Given the description of an element on the screen output the (x, y) to click on. 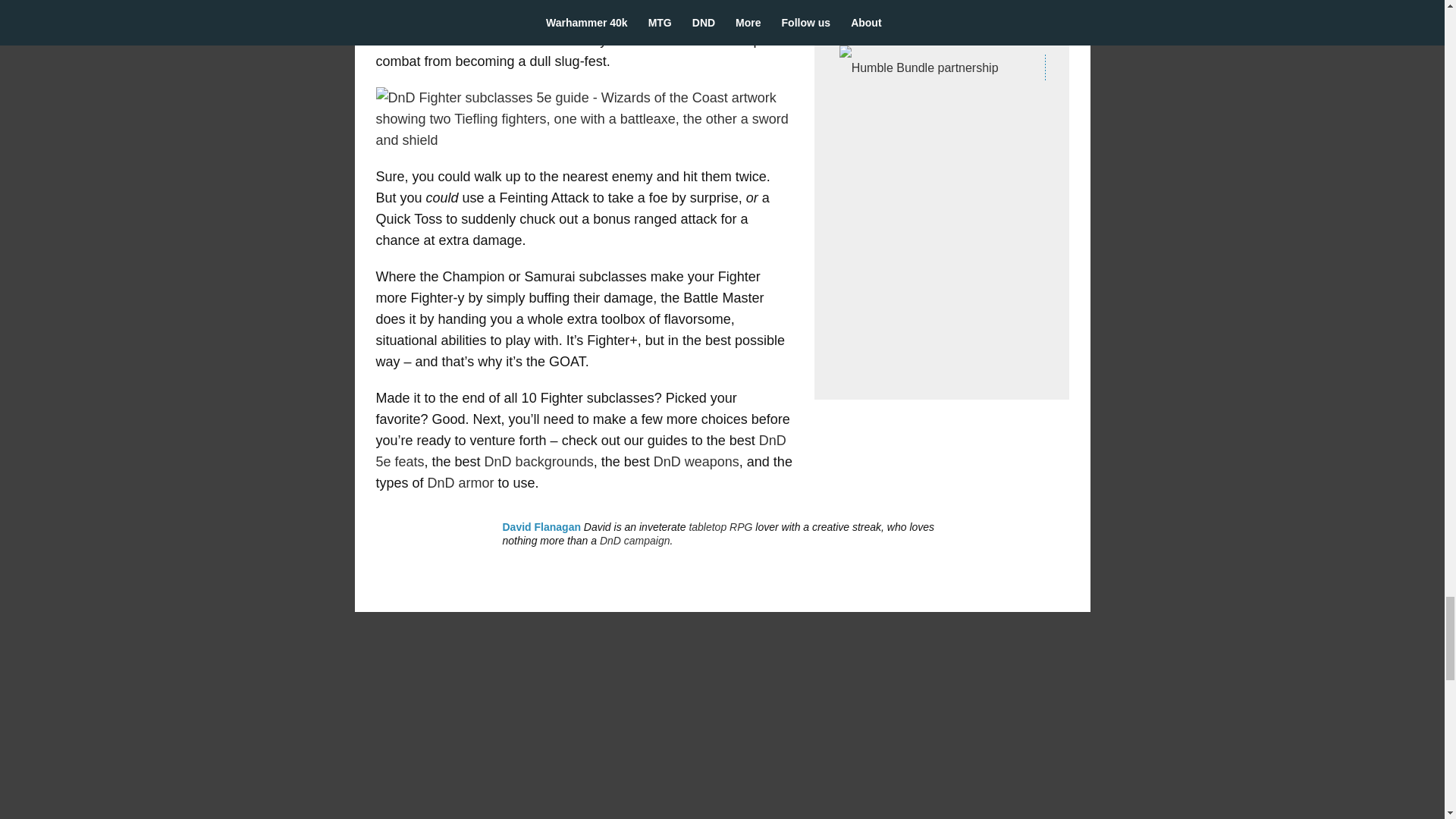
dnd-fighter-subclasses-5e-tiefling-fighters (584, 118)
